Given the description of an element on the screen output the (x, y) to click on. 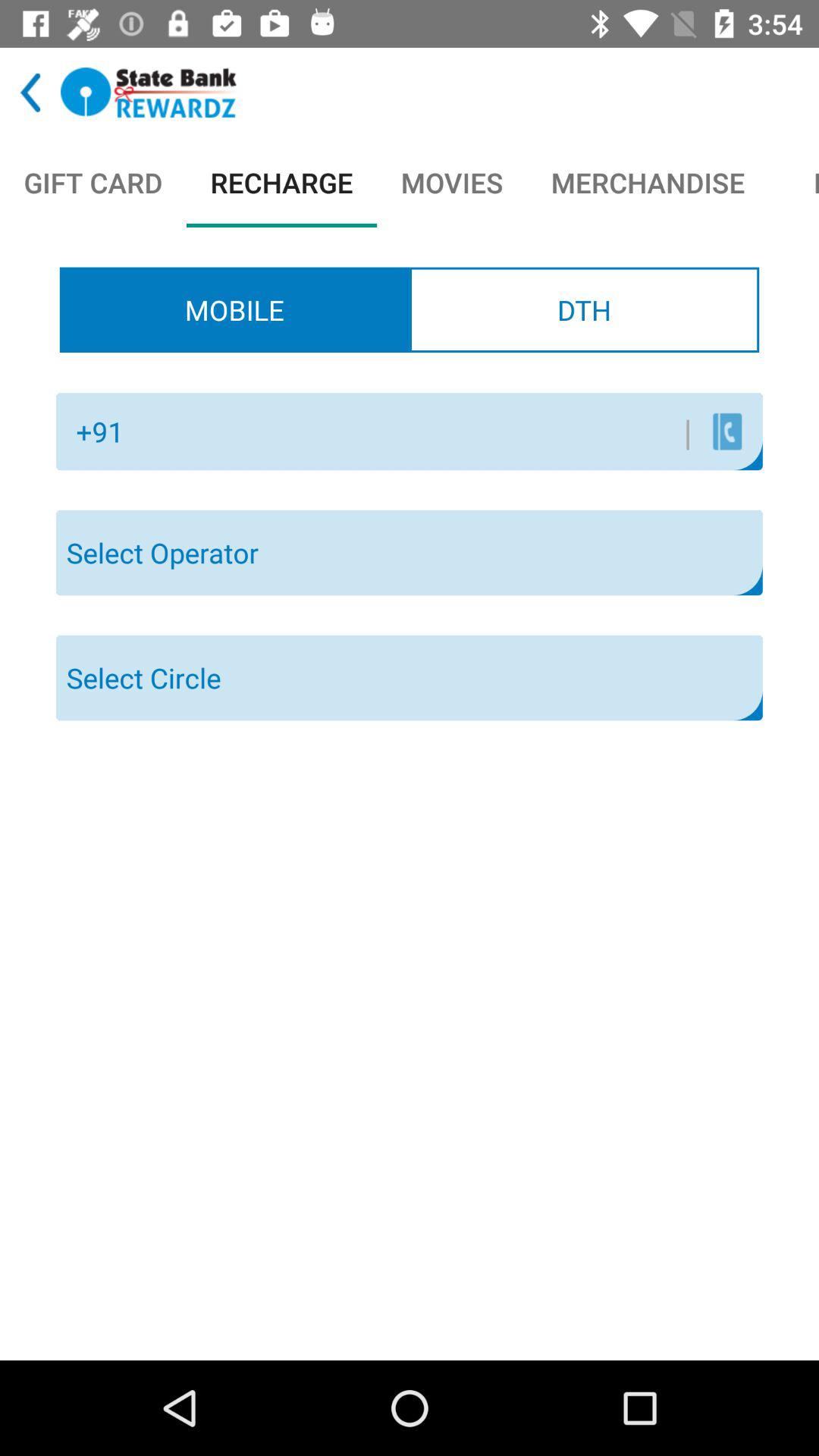
press icon to the right of mobile item (584, 309)
